Given the description of an element on the screen output the (x, y) to click on. 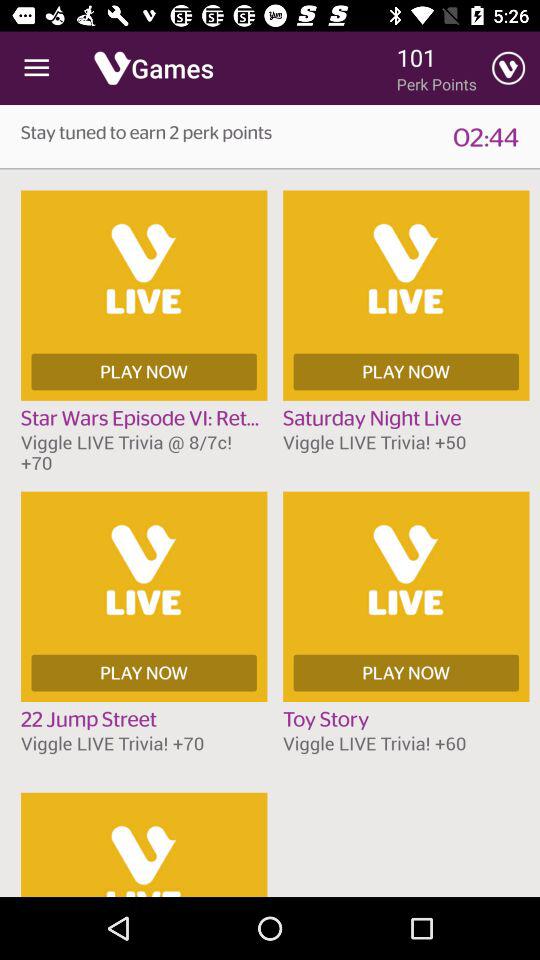
turn off the item to the right of perk points item (508, 67)
